Given the description of an element on the screen output the (x, y) to click on. 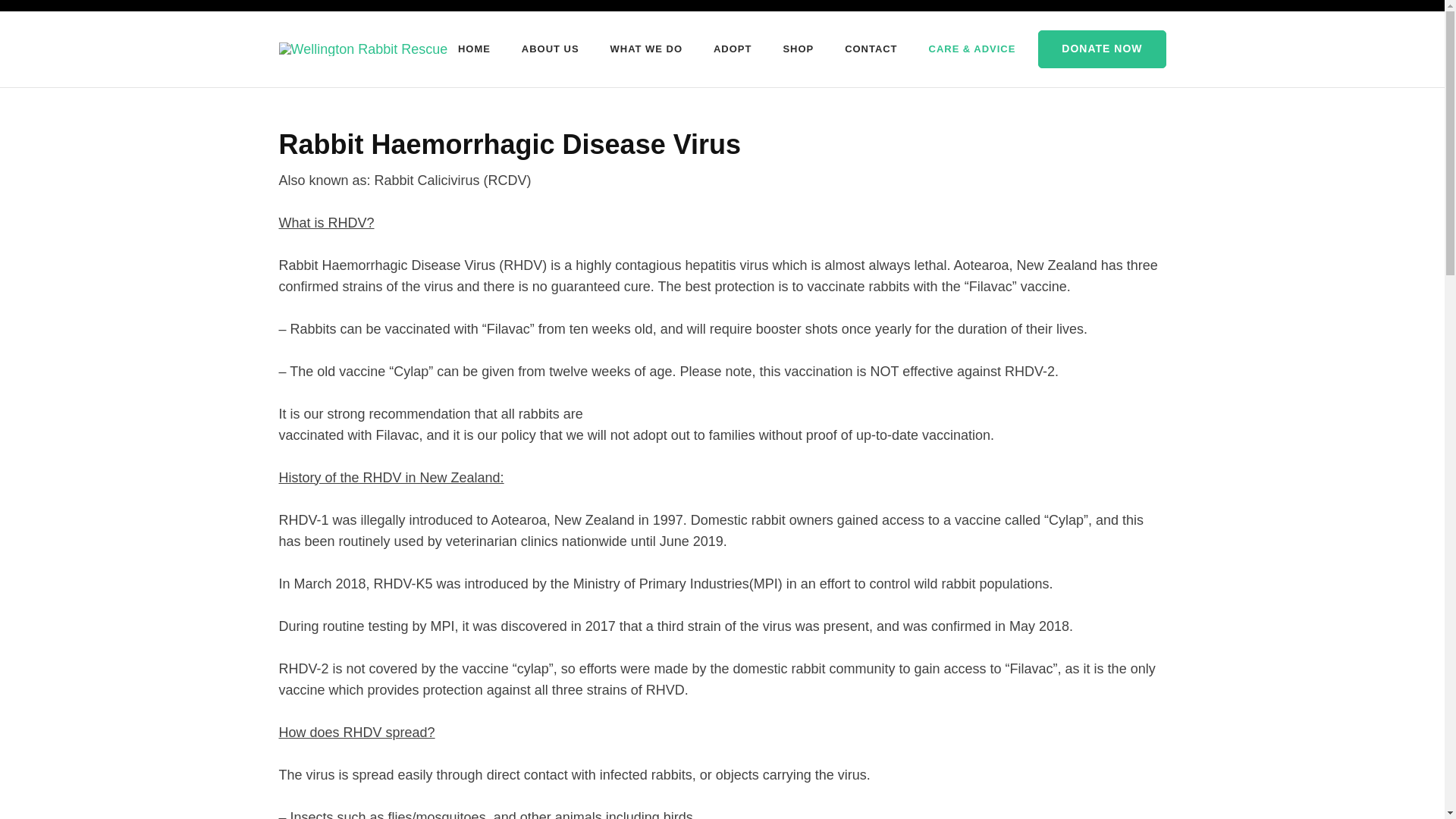
ADOPT (732, 48)
ABOUT US (550, 48)
CONTACT (870, 48)
WHAT WE DO (646, 48)
Wellington Rabbit Rescue (580, 59)
HOME (474, 48)
SHOP (798, 48)
